Given the description of an element on the screen output the (x, y) to click on. 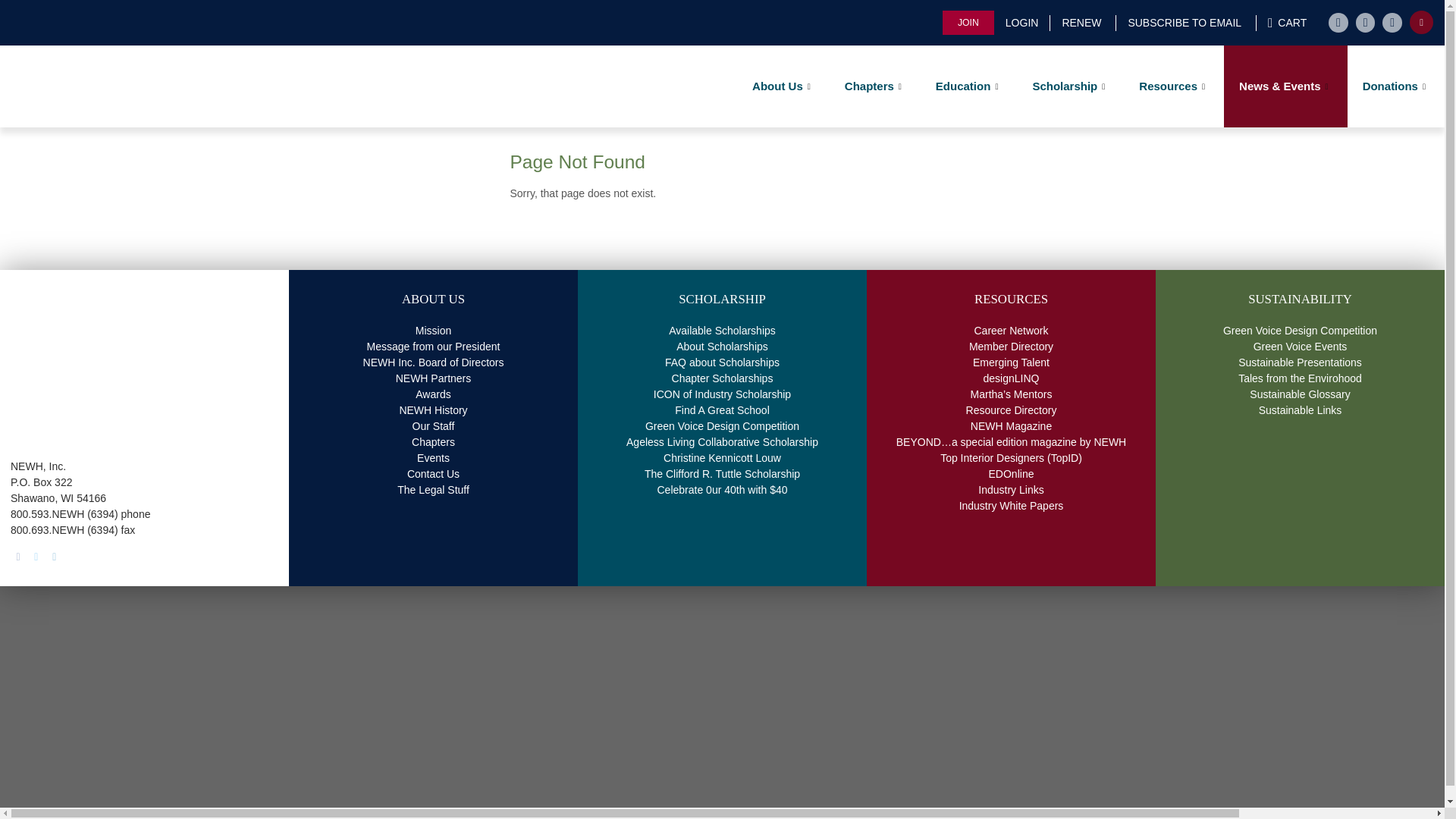
LinkedIn (54, 557)
About Us (782, 86)
RENEW (1080, 23)
Twitter (36, 557)
Facebook (18, 557)
View Cart (1286, 23)
Sign into NEWH Account (1021, 23)
Join NEWH! (968, 22)
JOIN (968, 22)
SUBSCRIBE TO EMAIL (1183, 23)
